Given the description of an element on the screen output the (x, y) to click on. 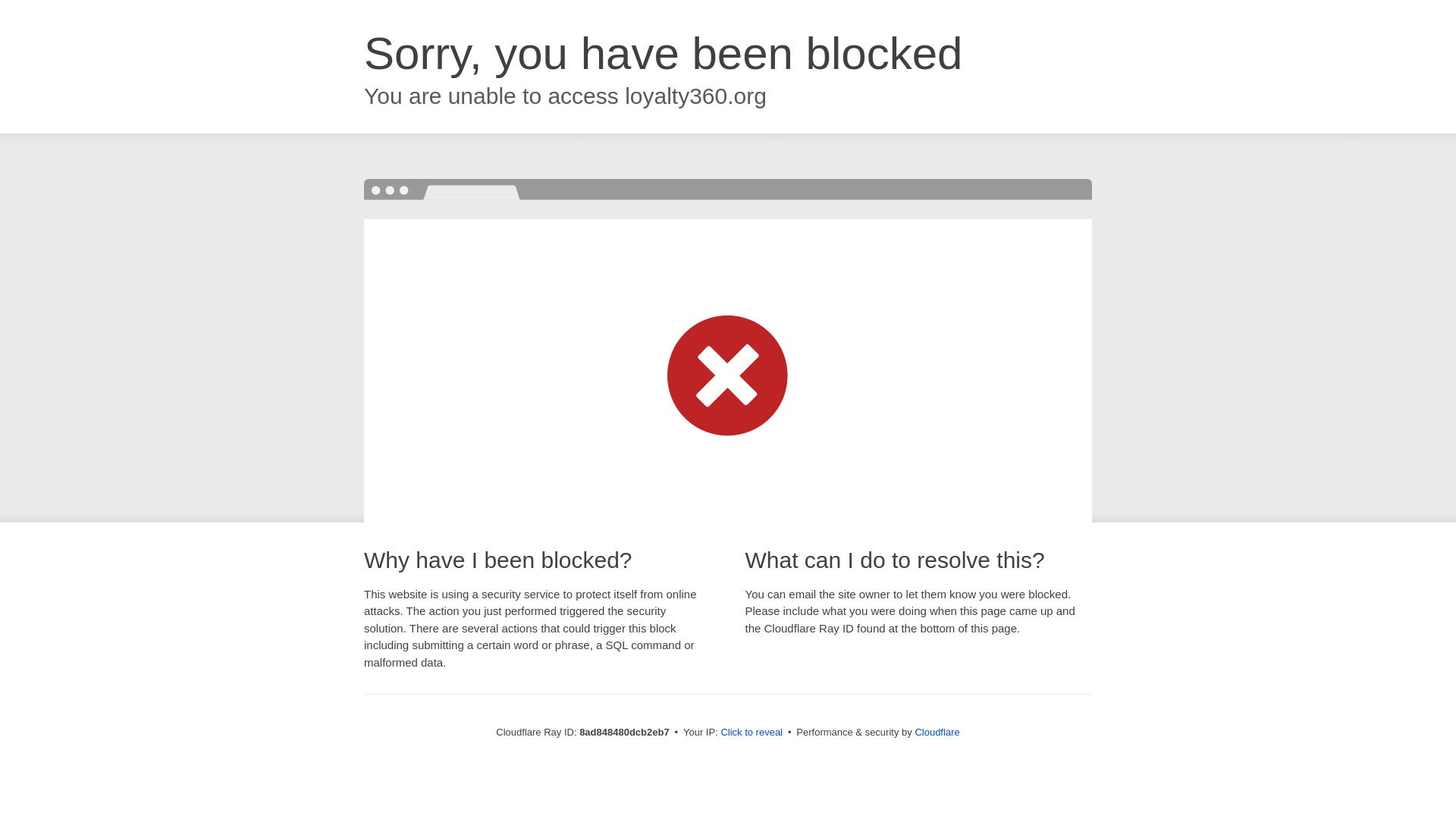
Cloudflare (936, 731)
Click to reveal (751, 732)
